Given the description of an element on the screen output the (x, y) to click on. 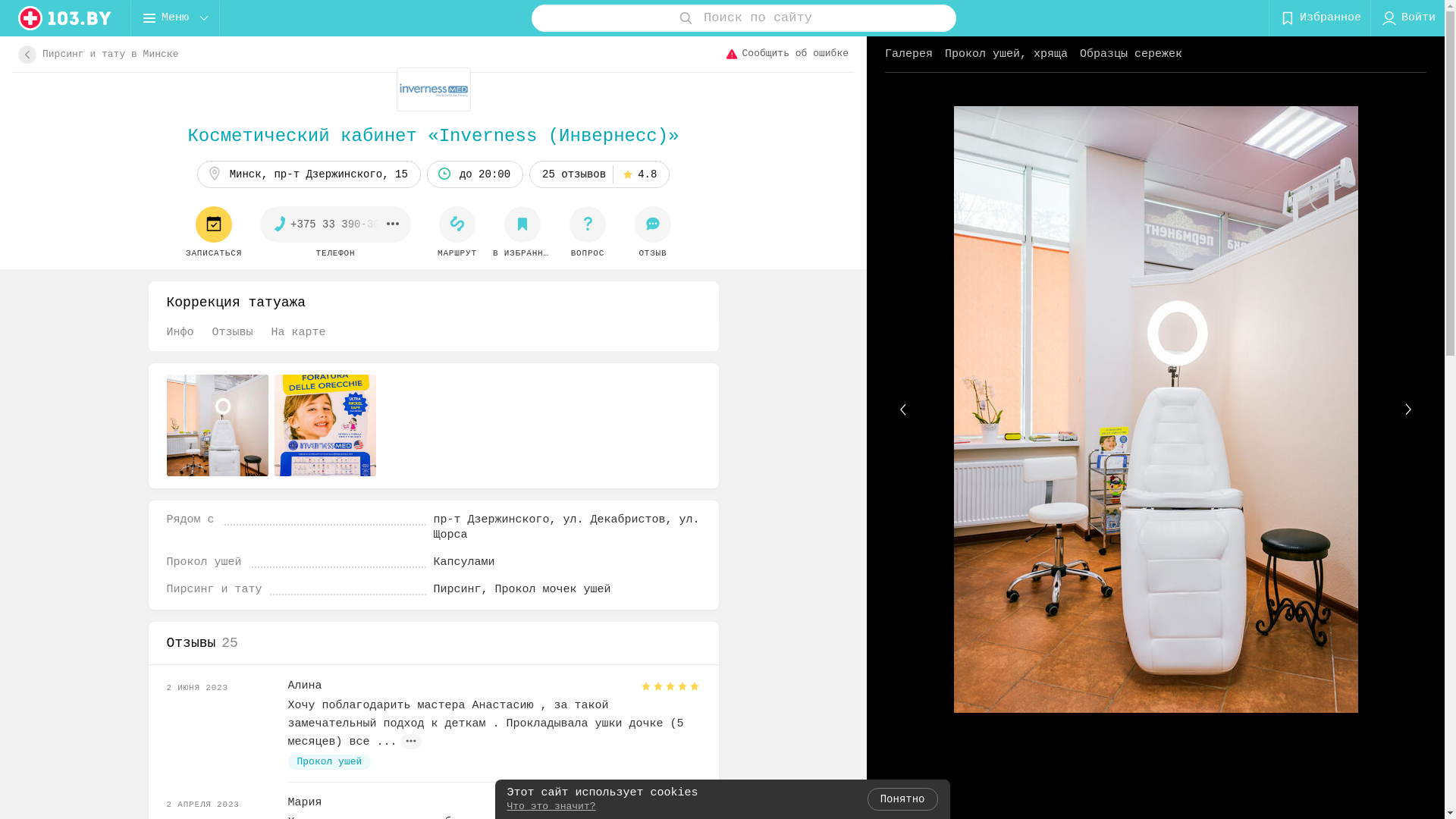
logo Element type: hover (65, 18)
